Given the description of an element on the screen output the (x, y) to click on. 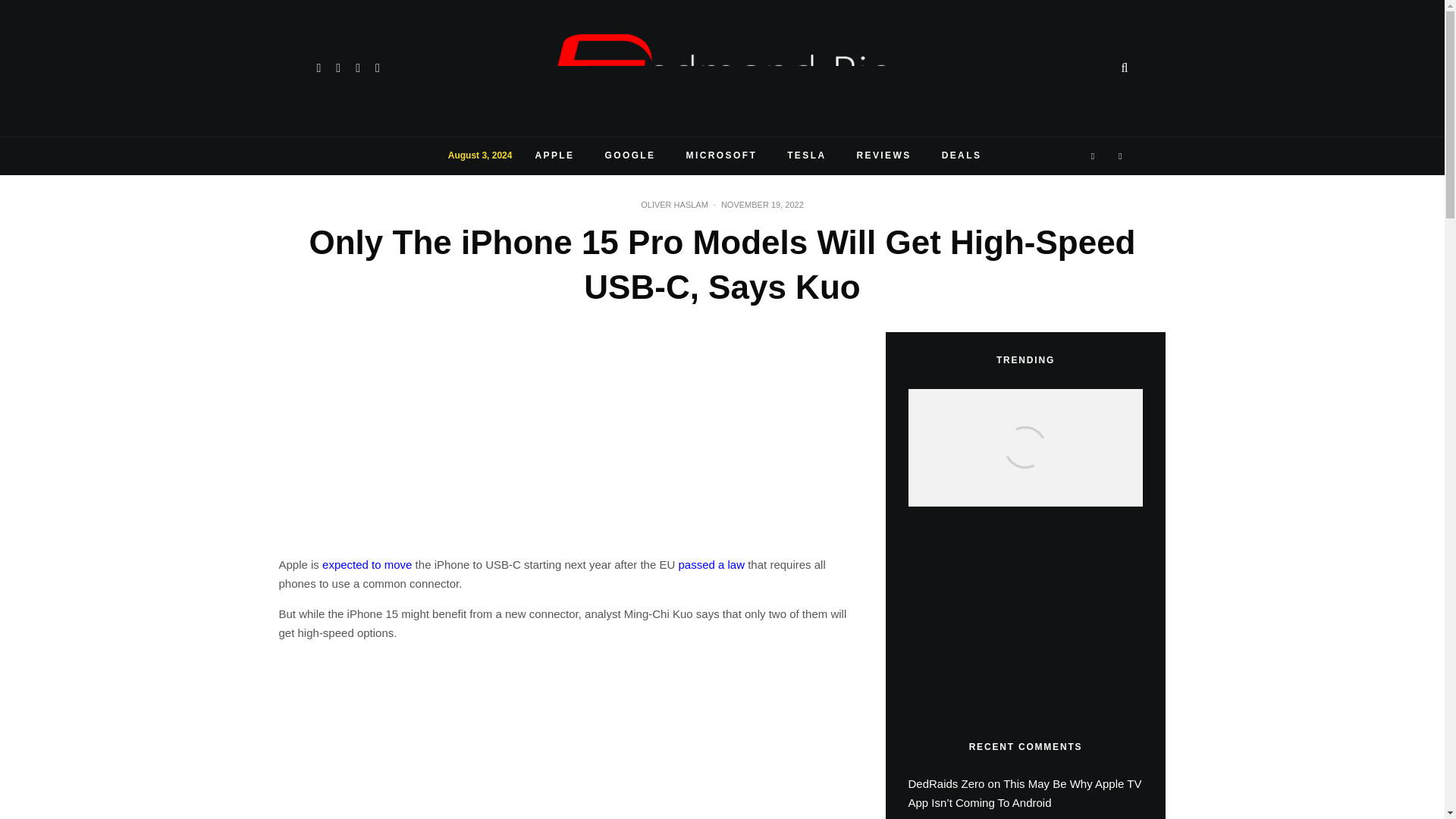
MICROSOFT (722, 156)
TESLA (806, 156)
APPLE (554, 156)
GOOGLE (629, 156)
